Given the description of an element on the screen output the (x, y) to click on. 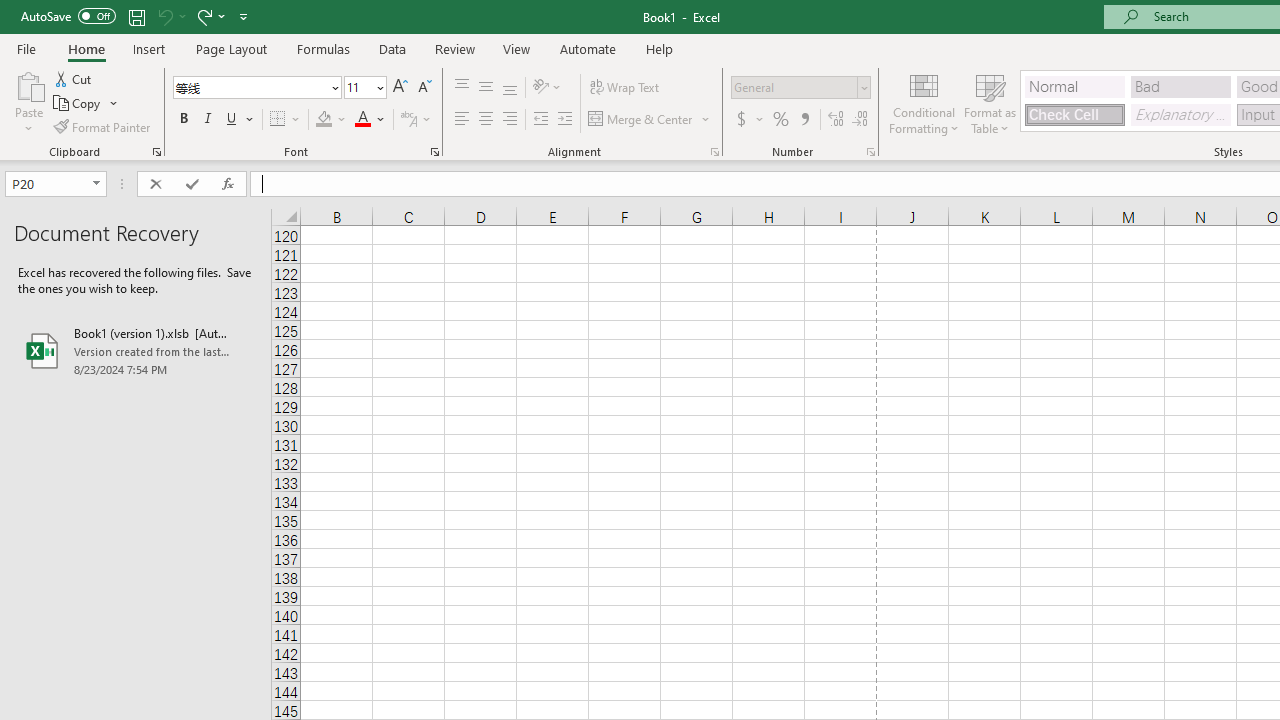
Font Color (370, 119)
Font Color RGB(255, 0, 0) (362, 119)
Top Align (461, 87)
Show Phonetic Field (408, 119)
Format Painter (103, 126)
Fill Color (331, 119)
Align Right (509, 119)
Number Format (794, 87)
Orientation (547, 87)
Copy (78, 103)
